Given the description of an element on the screen output the (x, y) to click on. 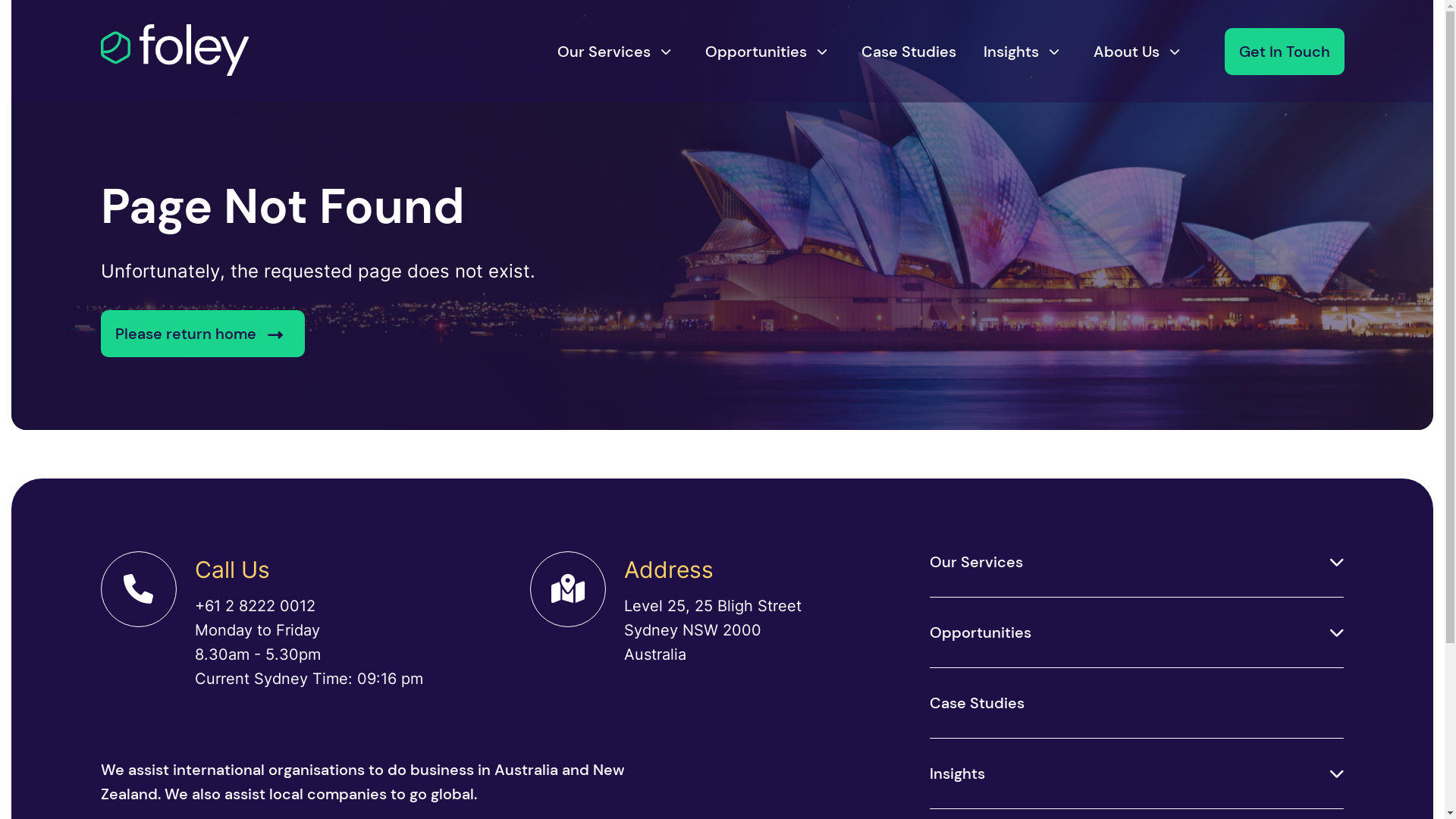
Our Services Element type: text (602, 51)
Please return home Element type: text (202, 333)
Insights Element type: text (957, 773)
Case Studies Element type: text (1136, 702)
Get In Touch Element type: text (1283, 51)
Level 25, 25 Bligh Street
Sydney NSW 2000
Australia Element type: text (712, 629)
Opportunities Element type: text (980, 632)
Case Studies Element type: text (908, 51)
Our Services Element type: text (975, 561)
Opportunities Element type: text (755, 51)
About Us Element type: text (1126, 51)
Insights Element type: text (1010, 51)
+61 2 8222 0012 Element type: text (308, 605)
